Given the description of an element on the screen output the (x, y) to click on. 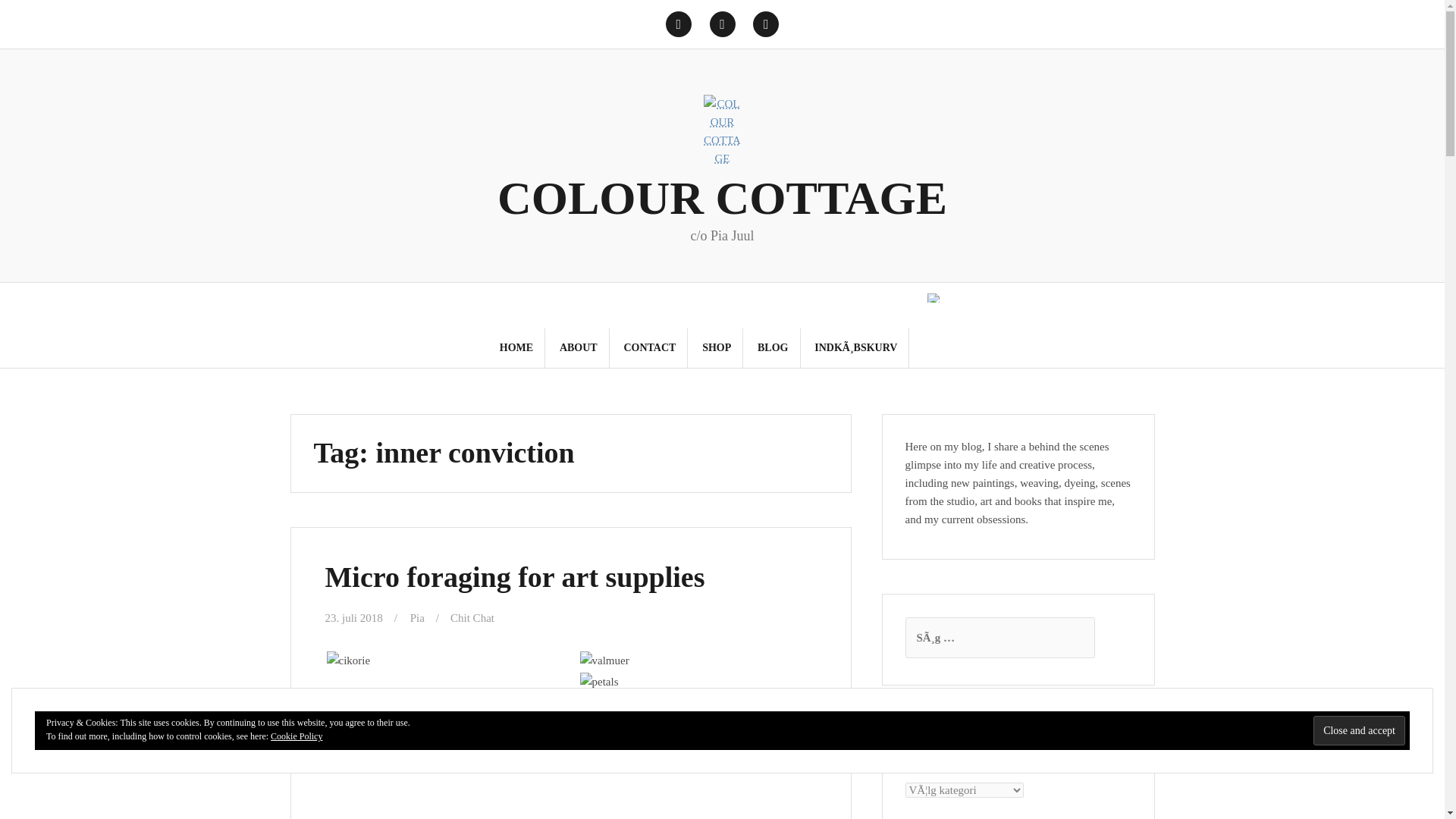
Chit Chat (472, 617)
valmuer (603, 660)
Instagram (765, 23)
COLOUR COTTAGE (722, 197)
cikorie (347, 660)
Facebook (678, 23)
petals (598, 681)
ABOUT (577, 347)
SHOP (715, 347)
BLOG (772, 347)
23. juli 2018 (352, 617)
CONTACT (649, 347)
Pinterest (721, 23)
HOME (515, 347)
Close and accept (1359, 730)
